Given the description of an element on the screen output the (x, y) to click on. 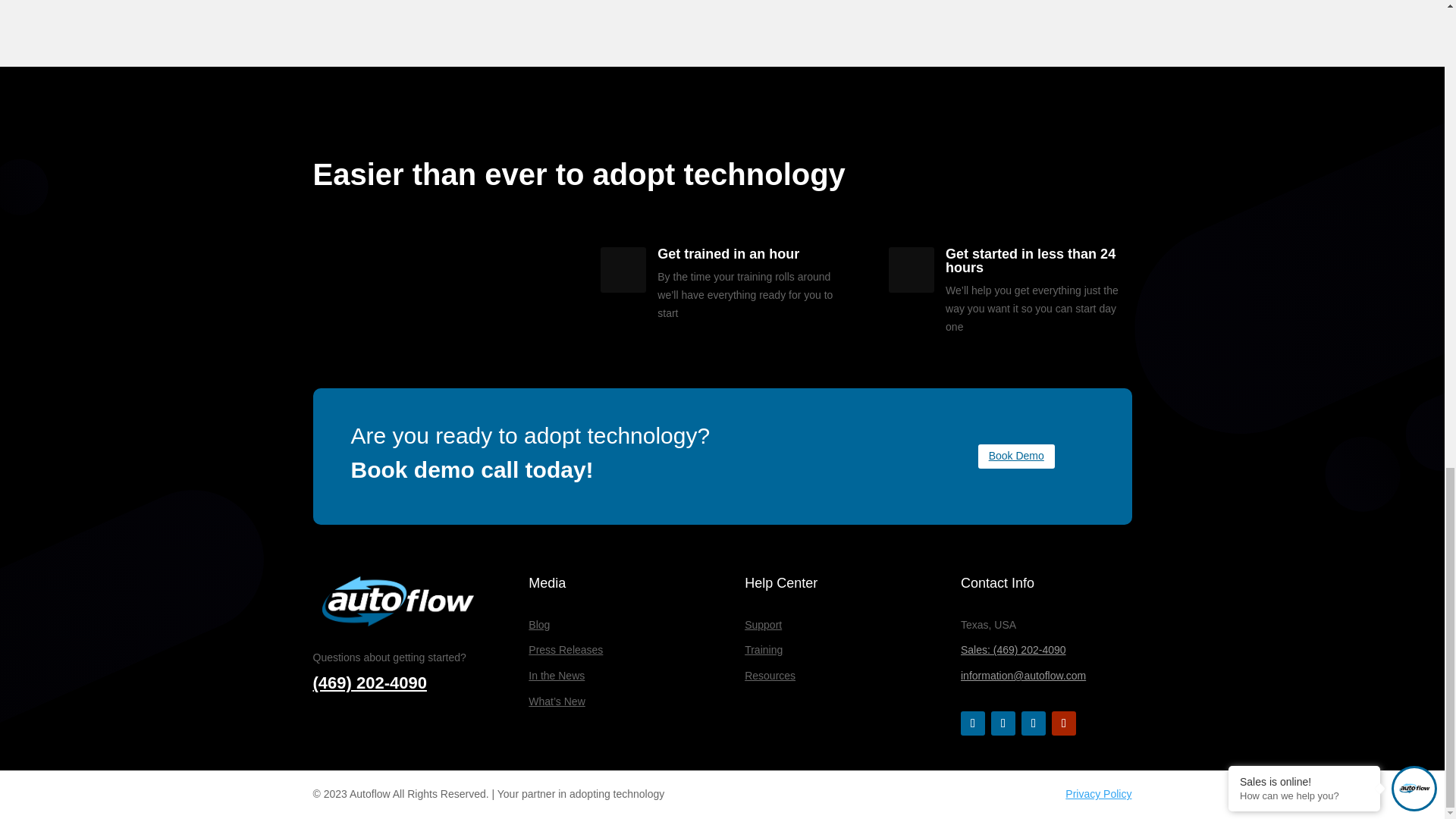
Follow on Facebook (972, 723)
Follow on LinkedIn (1033, 723)
Follow on X (1002, 723)
Follow on Youtube (1063, 723)
